Given the description of an element on the screen output the (x, y) to click on. 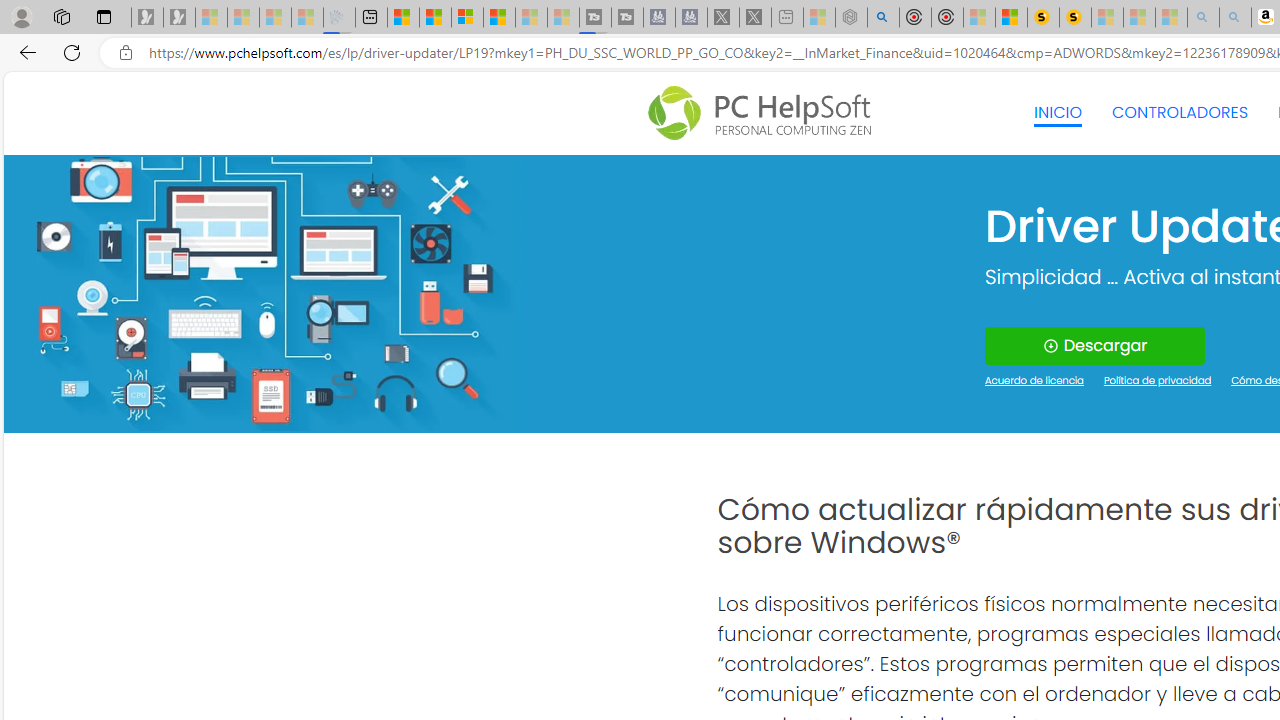
Nordace - Summer Adventures 2024 - Sleeping (850, 17)
Microsoft Start - Sleeping (530, 17)
Acuerdo de licencia (1034, 381)
Amazon Echo Dot PNG - Search Images - Sleeping (1234, 17)
Overview (466, 17)
New tab - Sleeping (786, 17)
